Given the description of an element on the screen output the (x, y) to click on. 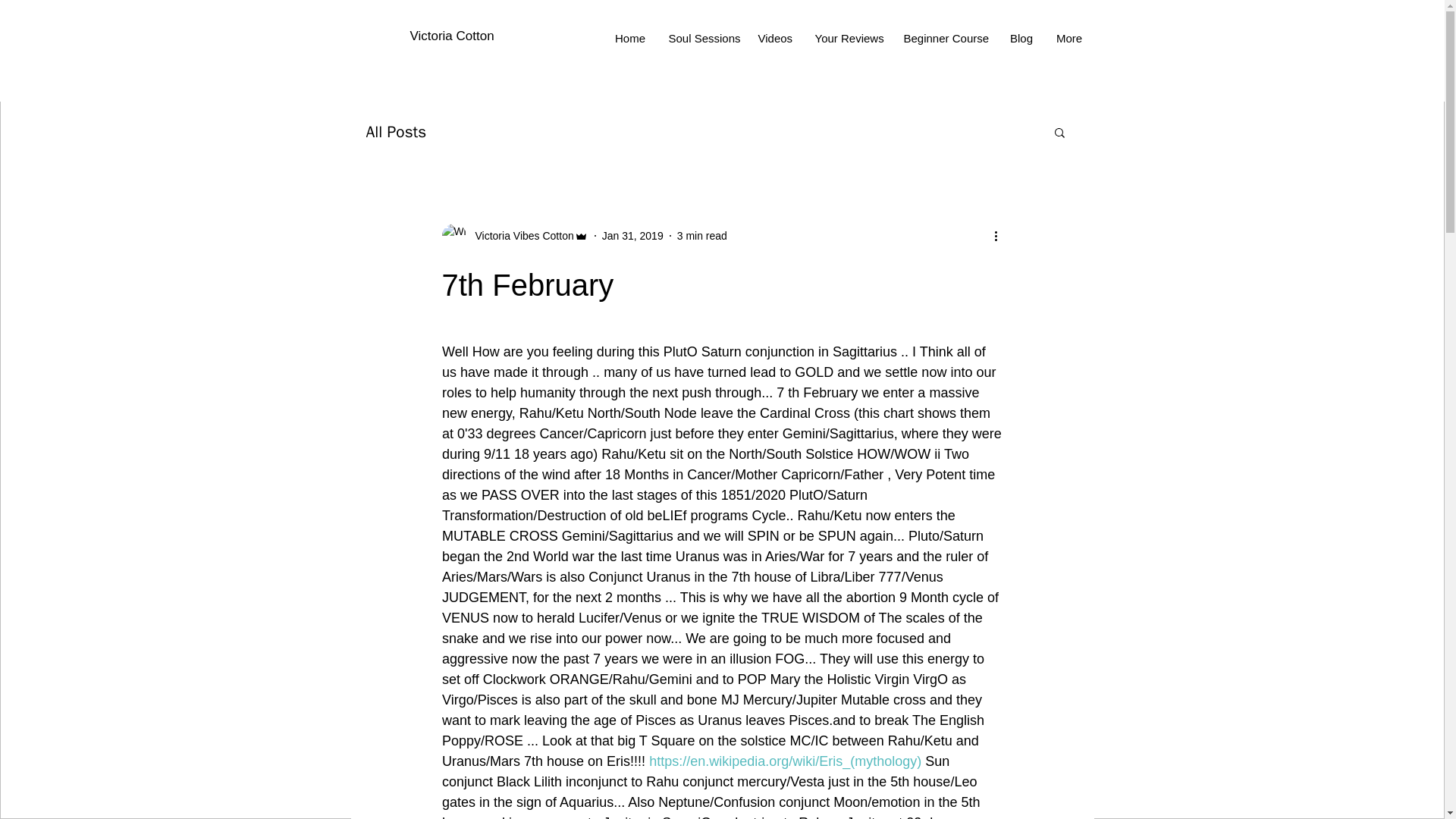
All Posts (395, 131)
Jan 31, 2019 (632, 234)
Victoria Cotton (451, 35)
Home (631, 37)
Soul Sessions (700, 37)
Beginner Course (944, 37)
Blog (1020, 37)
Victoria Vibes Cotton (514, 235)
Your Reviews (847, 37)
3 min read (701, 234)
